Given the description of an element on the screen output the (x, y) to click on. 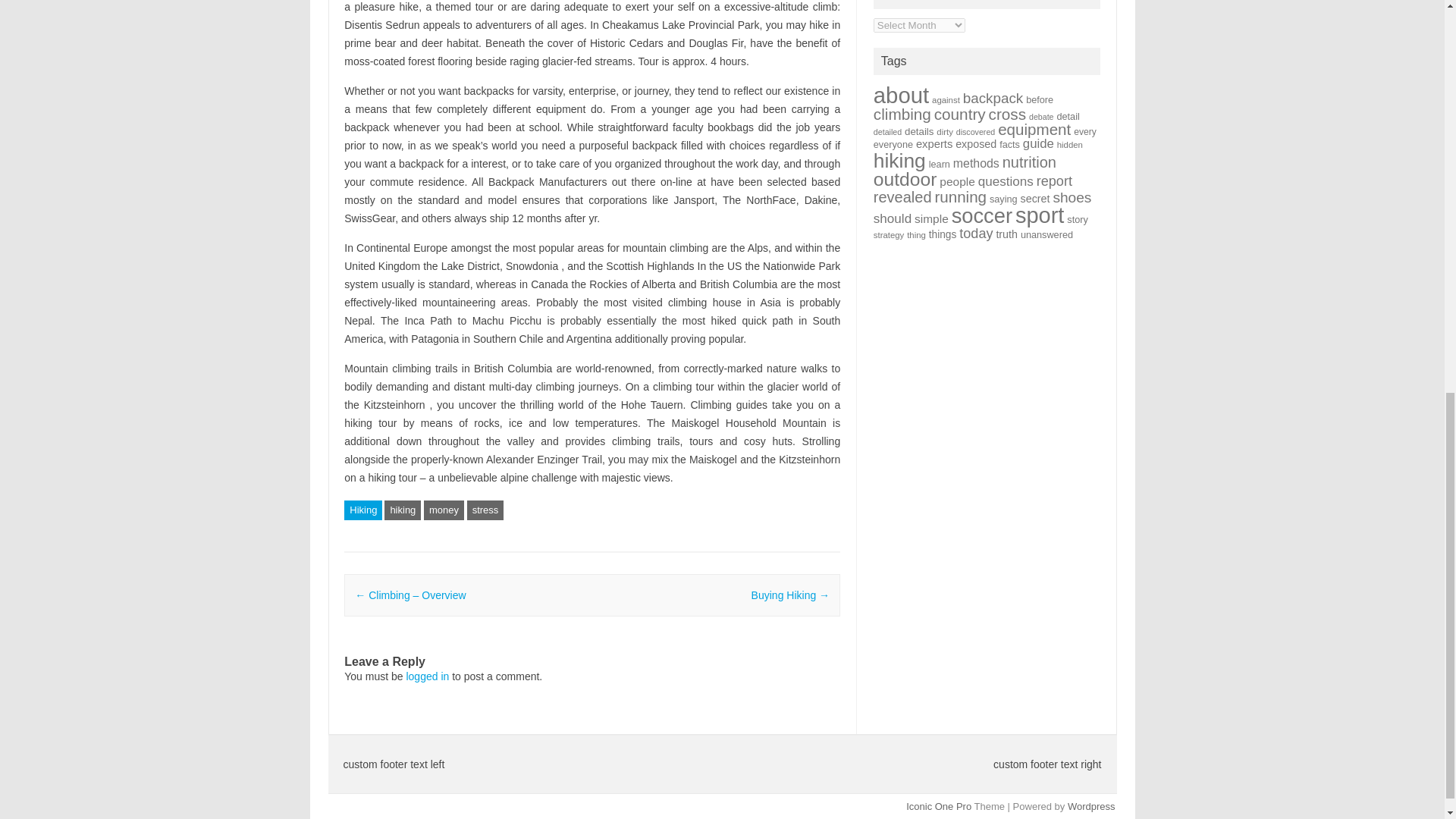
country (959, 113)
before (1039, 100)
backpack (992, 98)
hiking (402, 510)
logged in (427, 676)
about (900, 94)
climbing (902, 113)
stress (485, 510)
money (443, 510)
Hiking (362, 510)
against (945, 99)
